Given the description of an element on the screen output the (x, y) to click on. 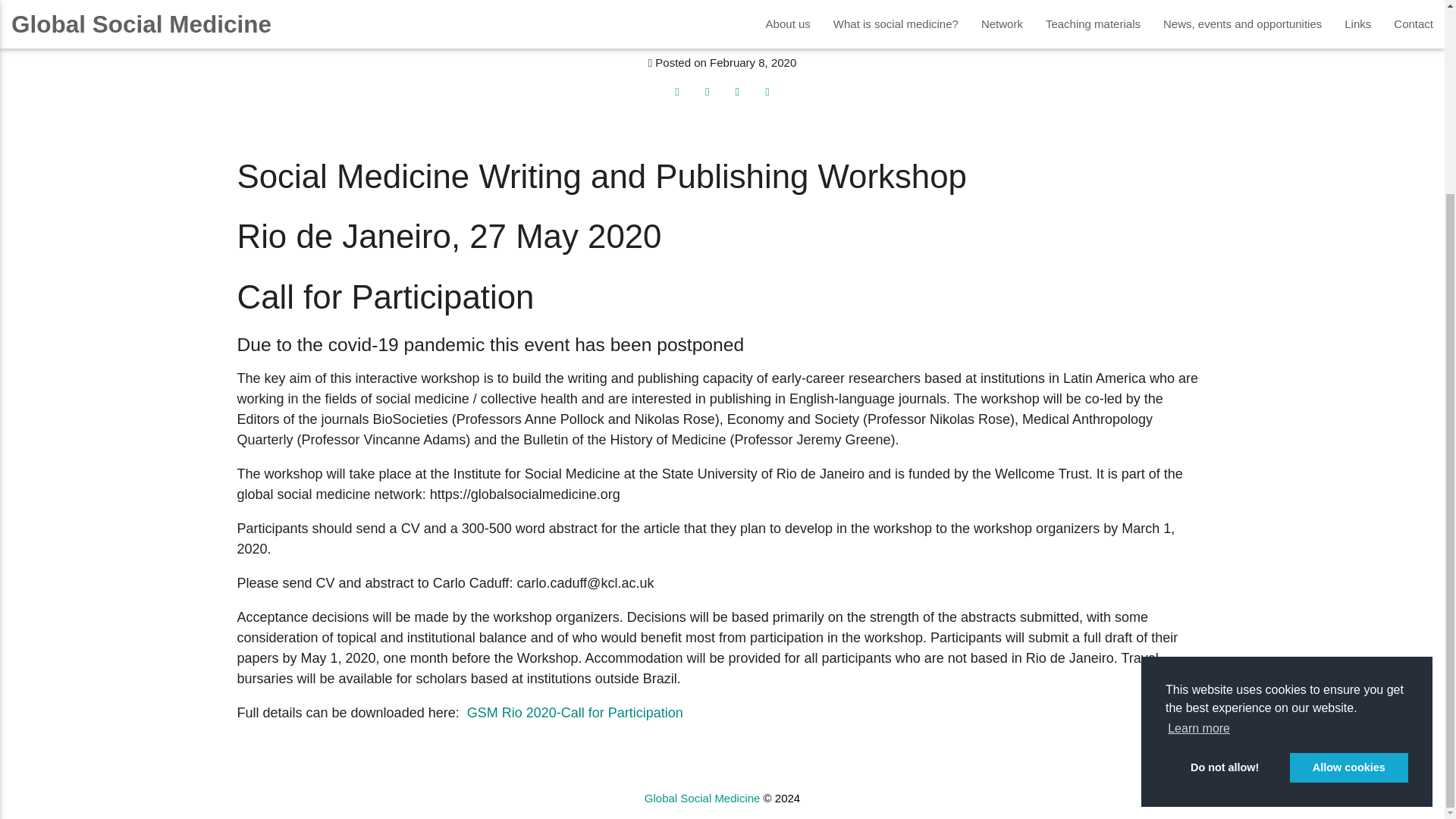
Global Social Medicine (702, 797)
Learn more (1198, 484)
Allow cookies (1348, 522)
Do not allow! (1225, 522)
GSM Rio 2020-Call for Participation (574, 712)
